Given the description of an element on the screen output the (x, y) to click on. 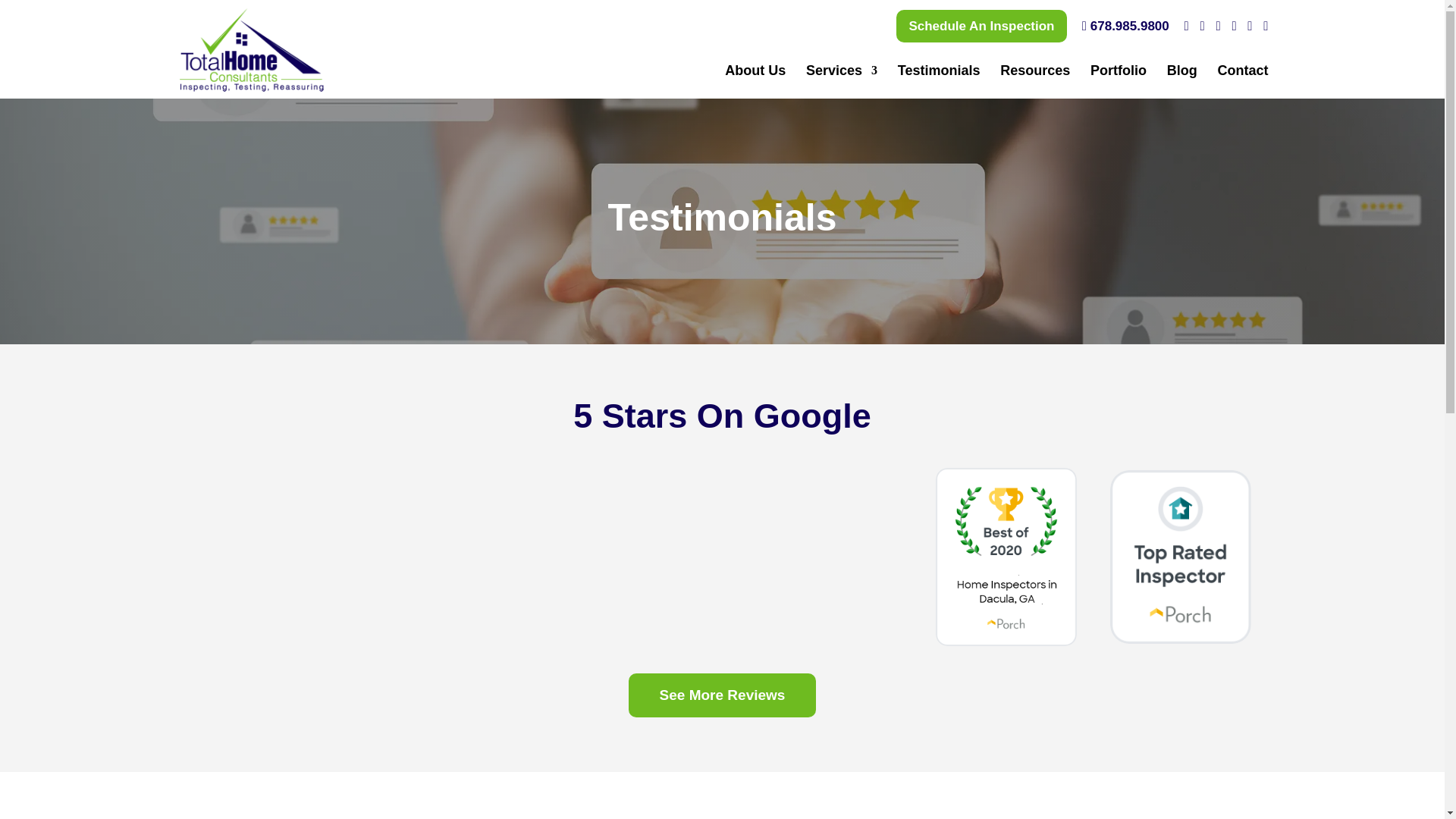
Portfolio (1118, 81)
Contact (1242, 81)
Resources (1035, 81)
Testimonials (938, 81)
Schedule An Inspection (981, 26)
Services (841, 81)
Blog (1181, 81)
About Us (755, 81)
See More Reviews (722, 694)
678.985.9800 (1125, 30)
